Given the description of an element on the screen output the (x, y) to click on. 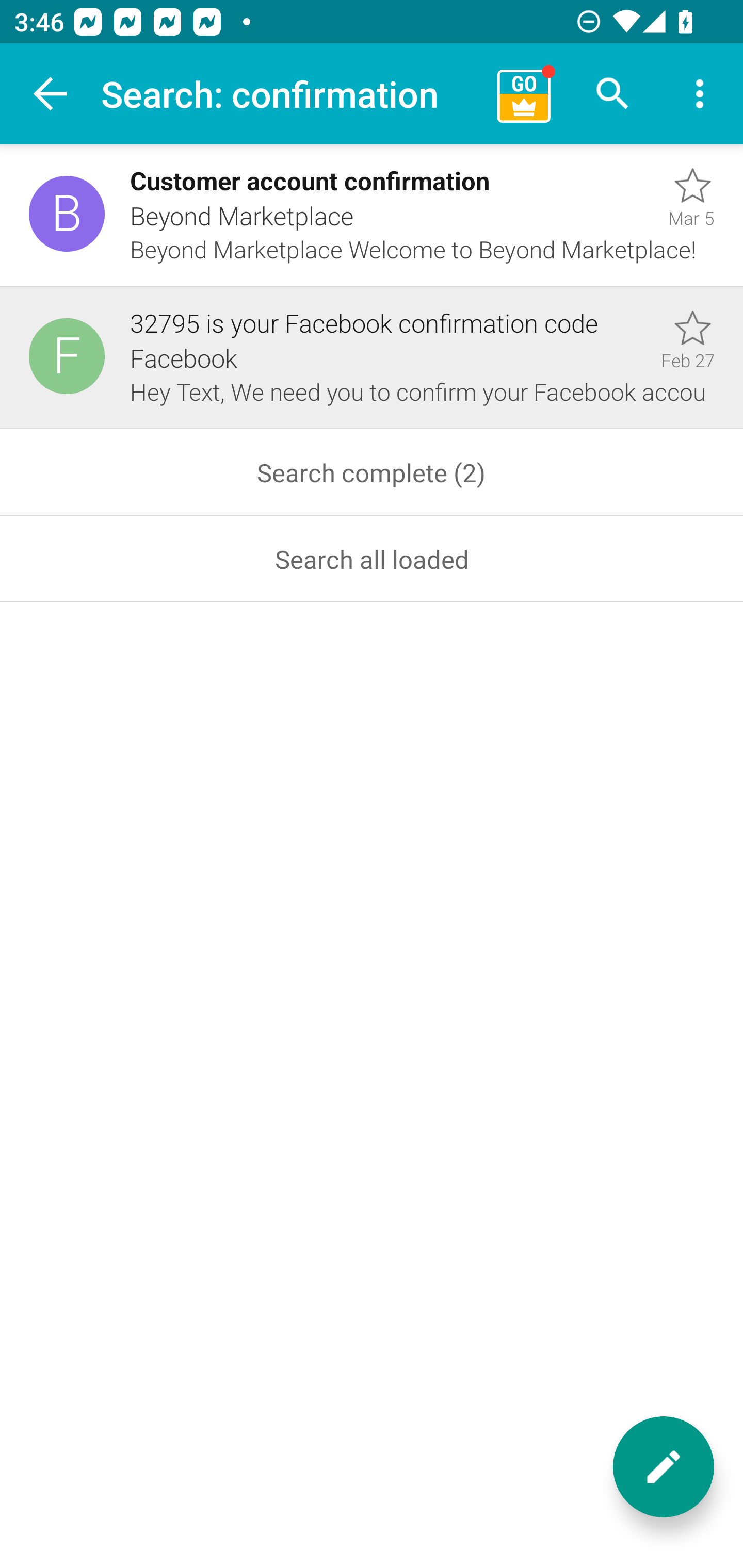
Navigate up (50, 93)
Search (612, 93)
More options (699, 93)
Search complete (2) (371, 472)
Search all loaded (371, 558)
New message (663, 1466)
